Given the description of an element on the screen output the (x, y) to click on. 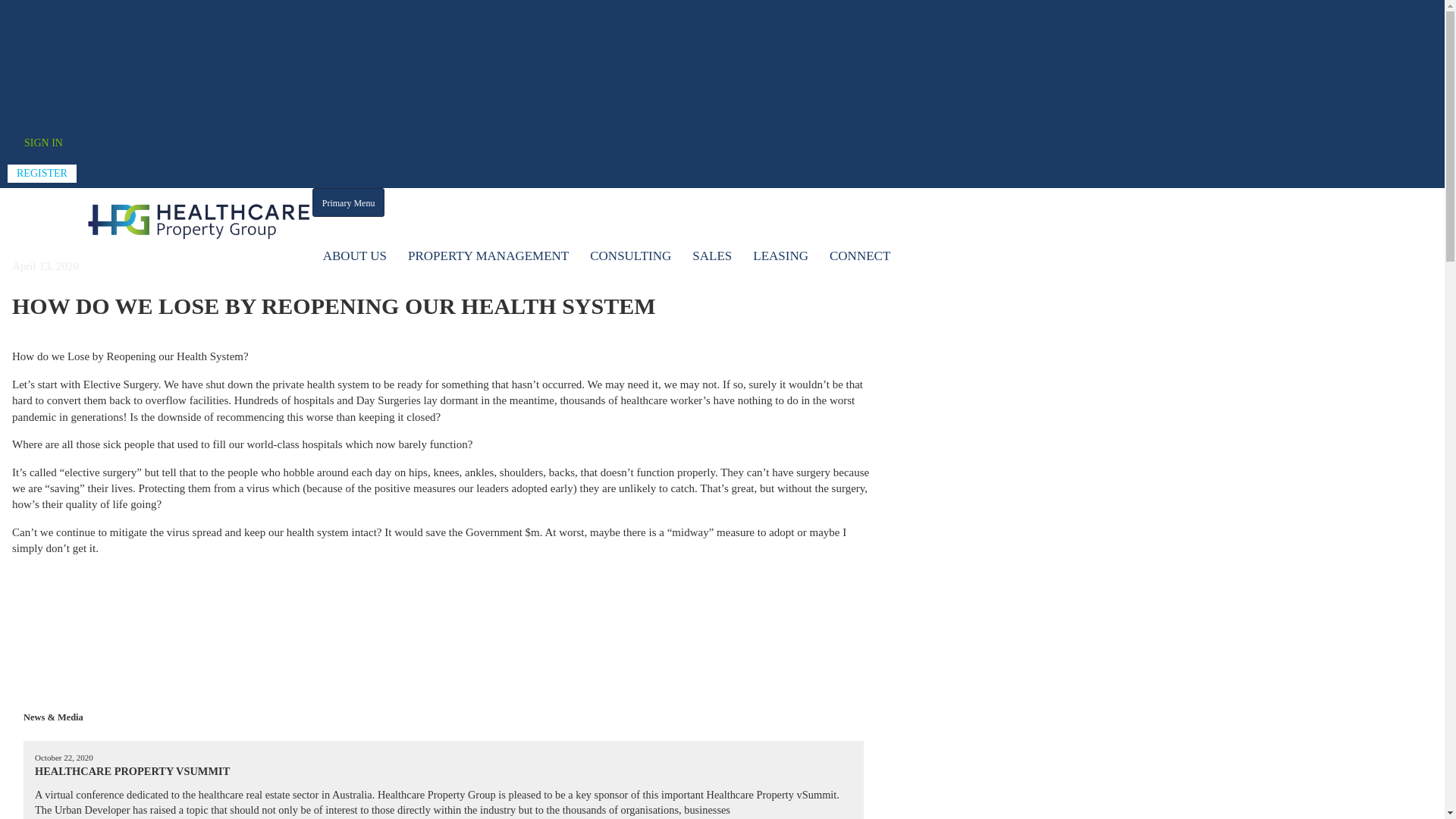
CONNECT Element type: text (859, 255)
CONSULTING Element type: text (630, 255)
SIGN IN Element type: text (43, 143)
Primary Menu Element type: text (348, 202)
ABOUT US Element type: text (354, 255)
REGISTER Element type: text (41, 173)
SALES Element type: text (711, 255)
LEASING Element type: text (780, 255)
PROPERTY MANAGEMENT Element type: text (488, 255)
April 13, 2020 Element type: text (45, 266)
